Given the description of an element on the screen output the (x, y) to click on. 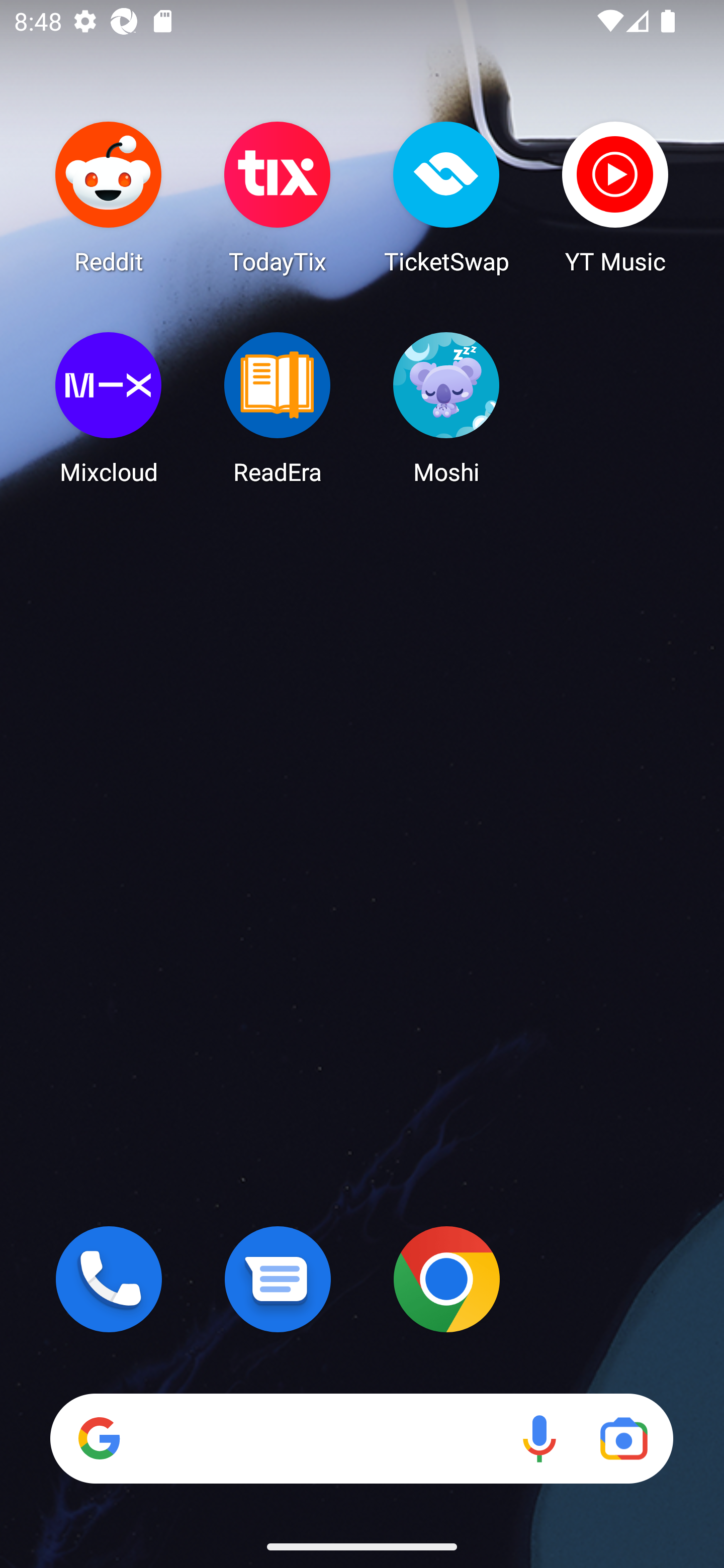
Reddit (108, 196)
TodayTix (277, 196)
TicketSwap (445, 196)
YT Music (615, 196)
Mixcloud (108, 407)
ReadEra (277, 407)
Moshi (445, 407)
Phone (108, 1279)
Messages (277, 1279)
Chrome (446, 1279)
Voice search (539, 1438)
Google Lens (623, 1438)
